Given the description of an element on the screen output the (x, y) to click on. 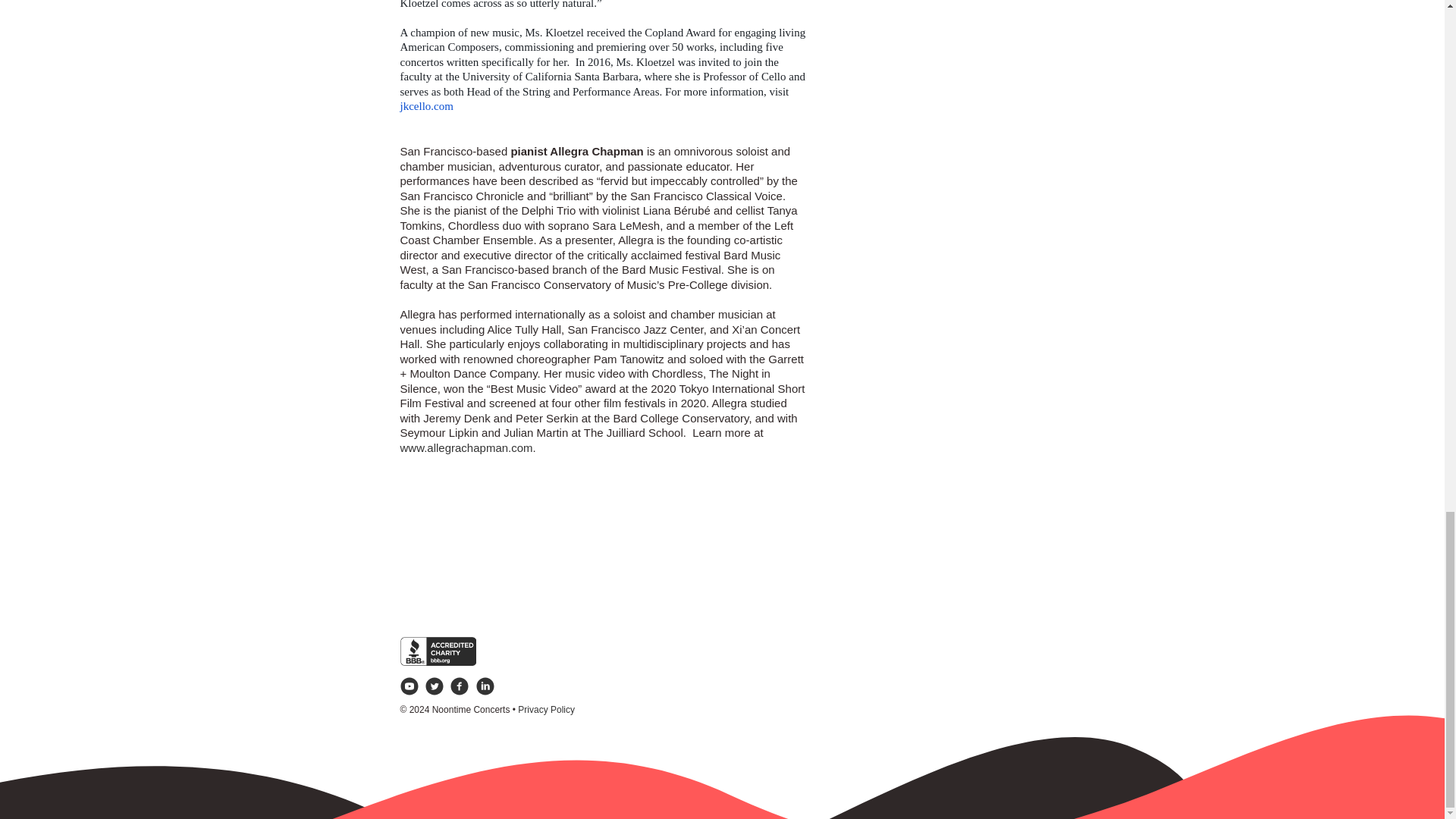
jkcello.com (426, 105)
